Given the description of an element on the screen output the (x, y) to click on. 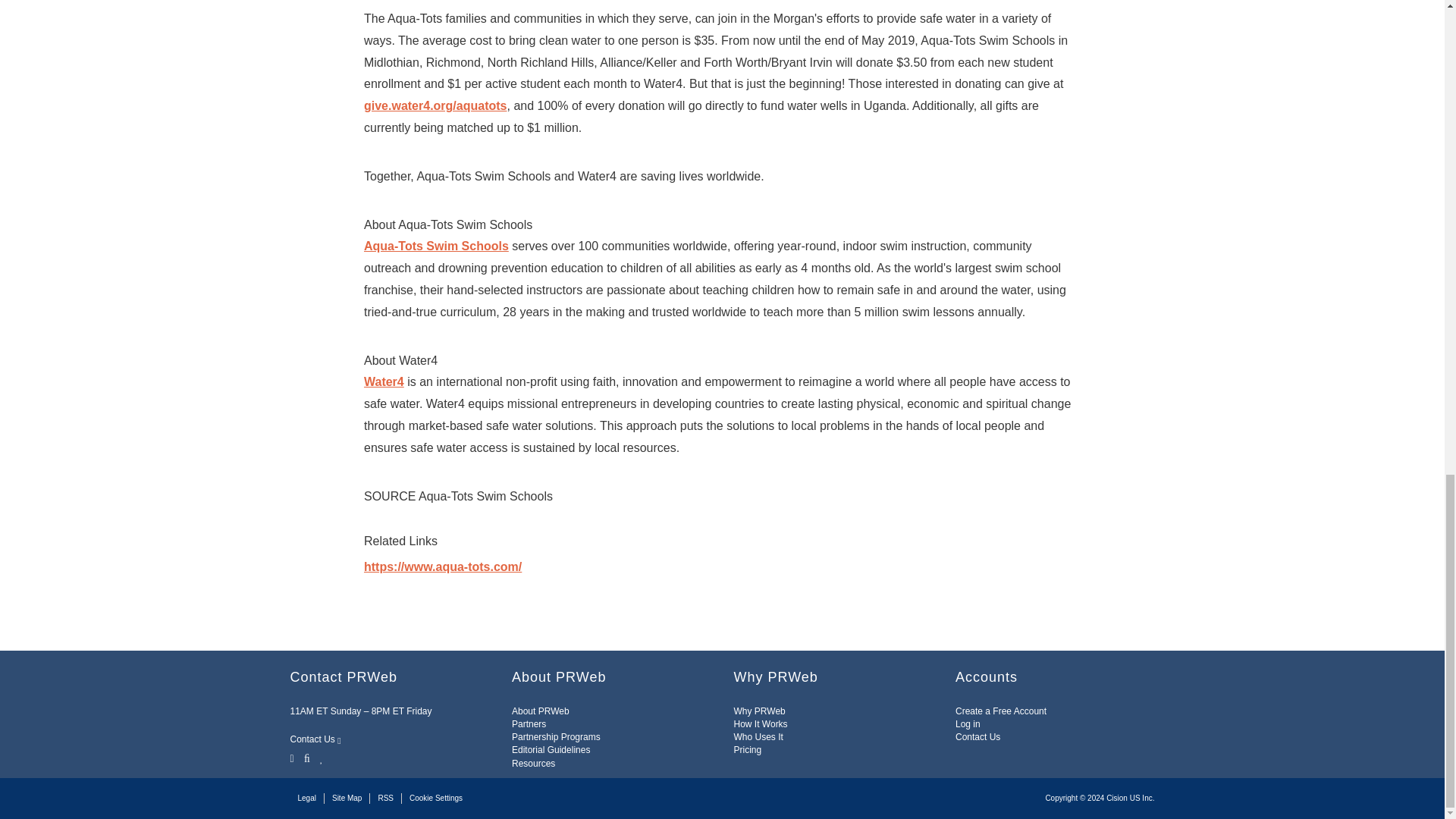
Editorial Guidelines (550, 749)
Resources (533, 763)
Partnership Programs (555, 737)
Partners (529, 724)
Facebook (306, 757)
About PRWeb (540, 710)
